Given the description of an element on the screen output the (x, y) to click on. 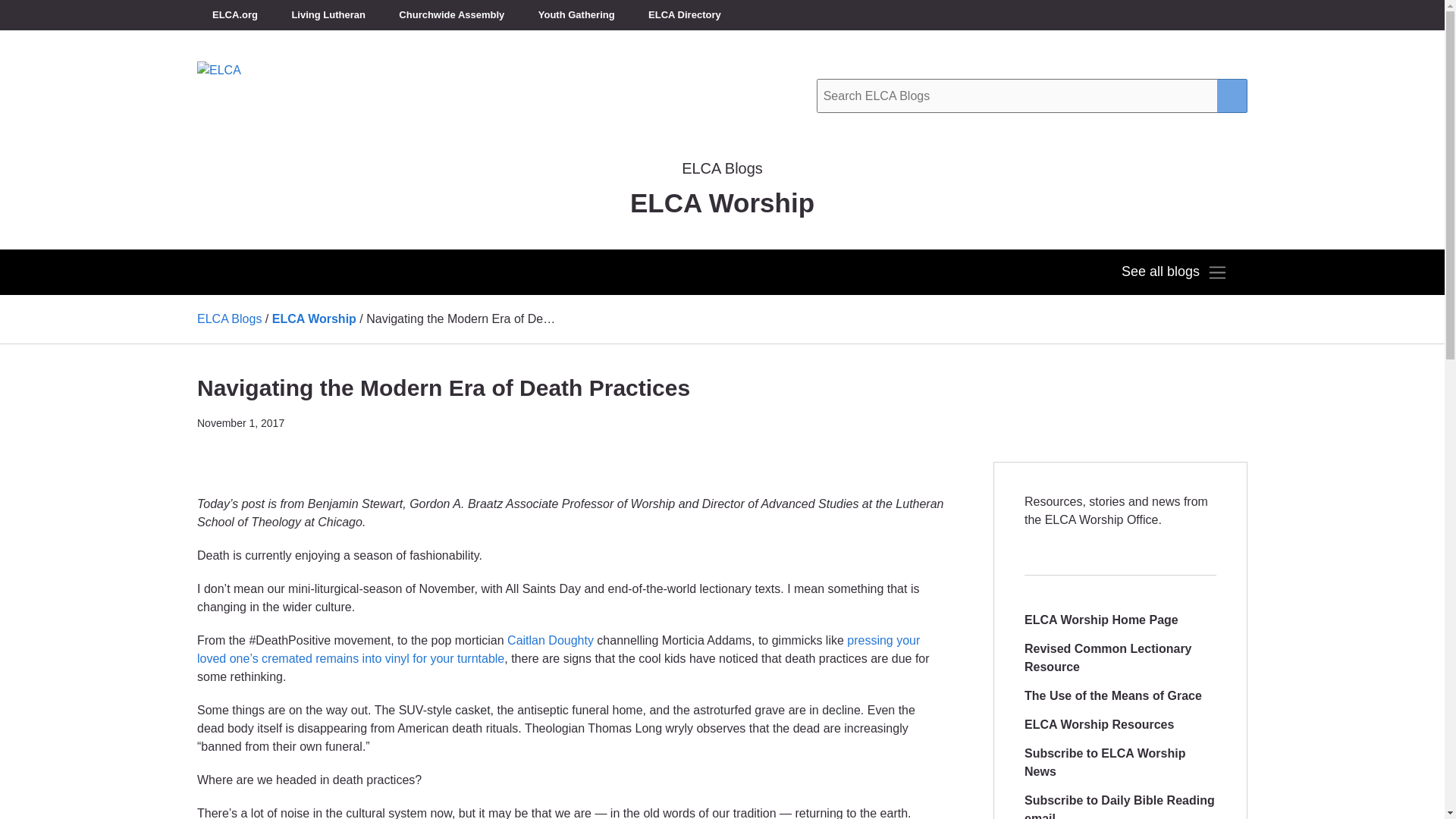
Search submit (1232, 95)
Caitlan Doughty (550, 640)
The Use of the Means of Grace (1113, 695)
Youth Gathering (576, 15)
ELCA.org (234, 15)
See all blogs (1174, 272)
ELCA Directory (684, 15)
ELCA Worship Resources (1099, 724)
Living Lutheran (328, 15)
Revised Common Lectionary Resource (1120, 657)
Subscribe to ELCA Worship News (1120, 762)
Churchwide Assembly (451, 15)
ELCA Worship (314, 318)
ELCA Worship Home Page (1101, 620)
ELCA Blogs (229, 318)
